Given the description of an element on the screen output the (x, y) to click on. 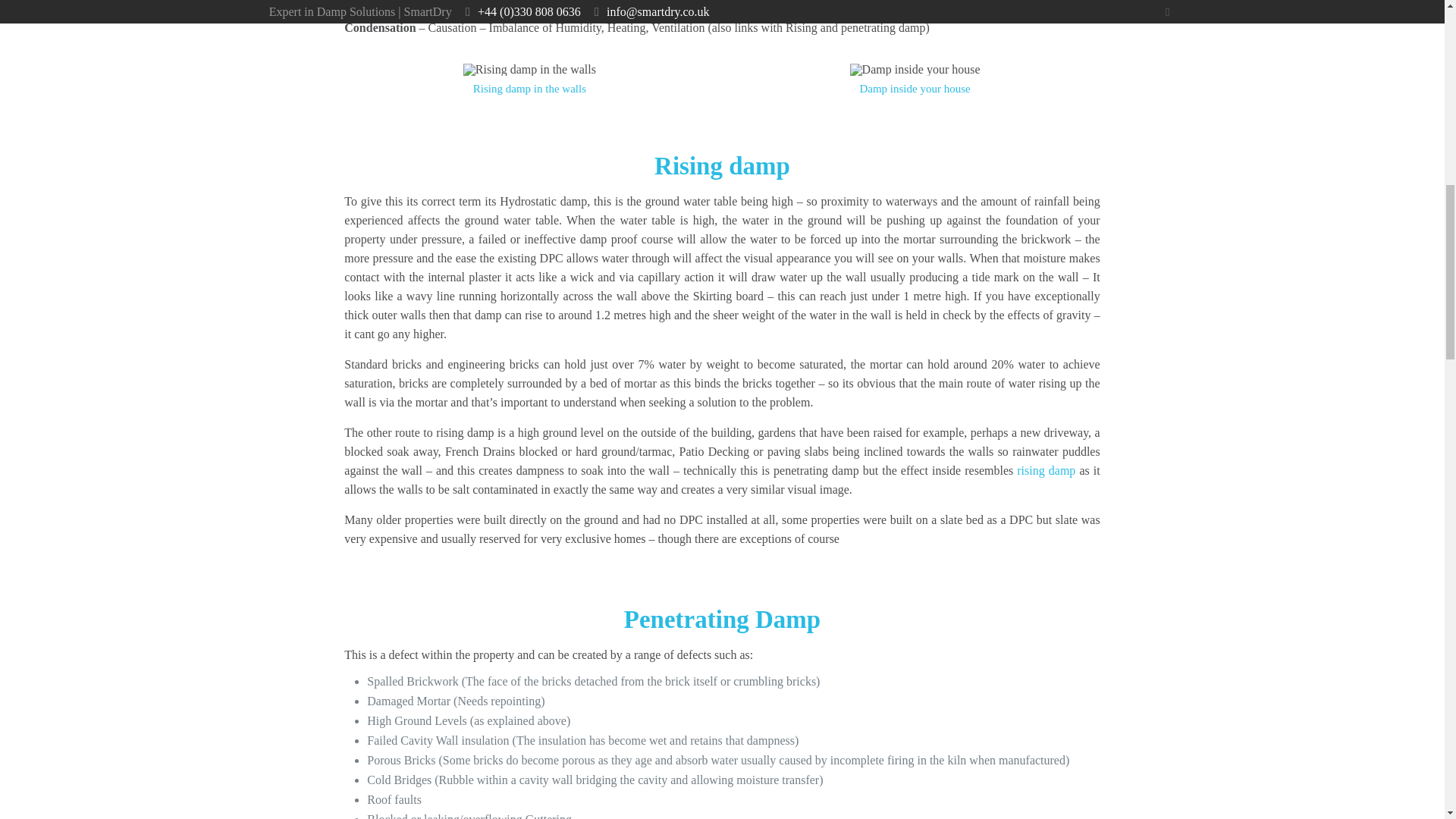
Rising damp in the walls (529, 69)
Rising Damp (1045, 470)
rising damp (1045, 470)
Damp inside your house (914, 69)
